Given the description of an element on the screen output the (x, y) to click on. 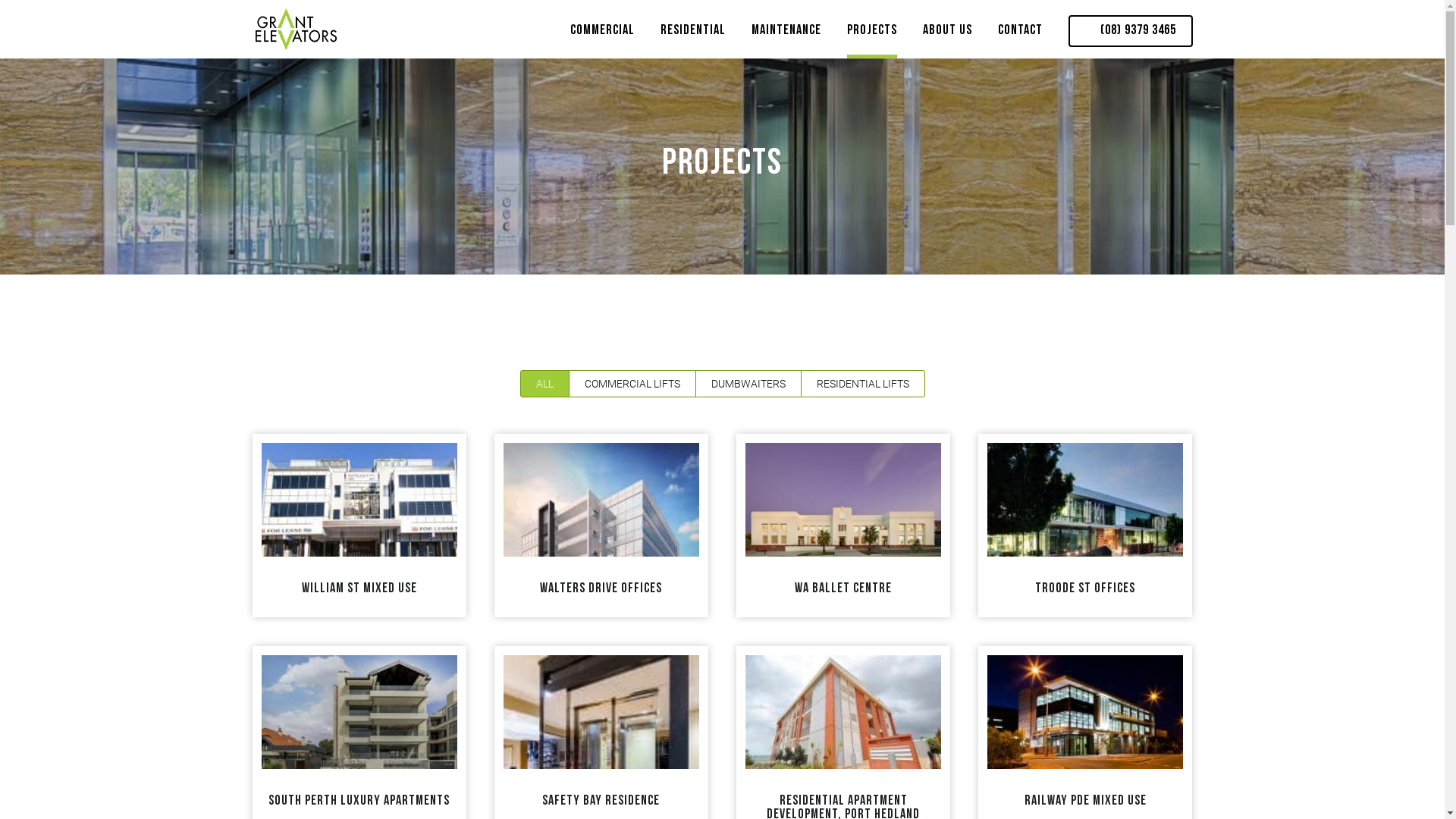
COMMERCIAL LIFTS Element type: text (632, 383)
ABOUT US Element type: text (946, 33)
COMMERCIAL Element type: text (602, 33)
TROODE ST OFFICES Element type: text (1085, 588)
ALL Element type: text (544, 383)
RESIDENTIAL LIFTS Element type: text (862, 383)
CONTACT Element type: text (1019, 33)
SOUTH PERTH LUXURY APARTMENTS Element type: text (358, 800)
WALTERS DRIVE OFFICES Element type: text (600, 588)
WILLIAM ST MIXED USE Element type: text (359, 588)
WA BALLET CENTRE Element type: text (842, 588)
RAILWAY PDE MIXED USE Element type: text (1085, 800)
DUMBWAITERS Element type: text (748, 383)
PROJECTS Element type: text (871, 33)
RESIDENTIAL Element type: text (691, 33)
(08) 9379 3465 Element type: text (1129, 31)
SAFETY BAY RESIDENCE Element type: text (600, 800)
MAINTENANCE Element type: text (785, 33)
